Given the description of an element on the screen output the (x, y) to click on. 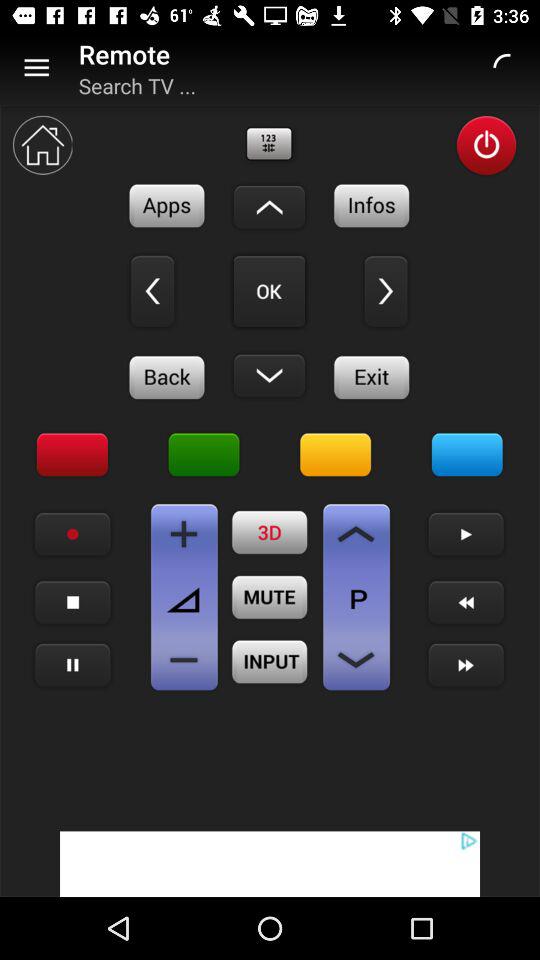
down arrow (269, 207)
